Given the description of an element on the screen output the (x, y) to click on. 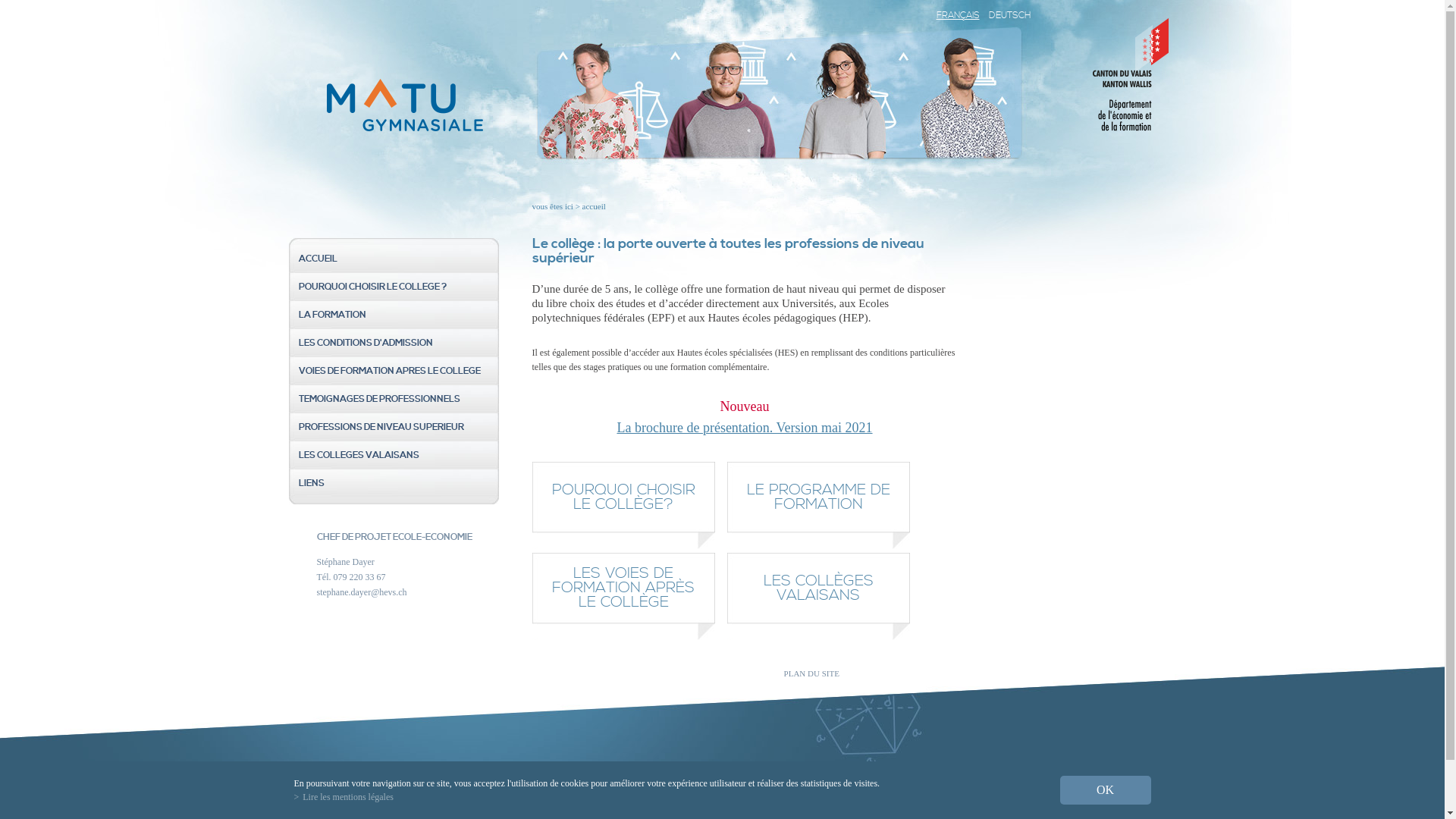
stephane.dayer@hevs.ch Element type: text (361, 591)
ACCUEIL Element type: text (393, 258)
POURQUOI CHOISIR LE COLLEGE ? Element type: text (393, 286)
DEUTSCH Element type: text (1009, 15)
LA FORMATION Element type: text (393, 314)
PROFESSIONS DE NIVEAU SUPERIEUR Element type: text (393, 427)
TEMOIGNAGES DE PROFESSIONNELS Element type: text (393, 398)
PLAN DU SITE Element type: text (811, 672)
LIENS Element type: text (393, 483)
LE PROGRAMME DE FORMATION Element type: text (817, 505)
OK Element type: text (1105, 789)
LES COLLEGES VALAISANS Element type: text (393, 455)
VOIES DE FORMATION APRES LE COLLEGE Element type: text (393, 370)
LES CONDITIONS D'ADMISSION Element type: text (393, 342)
